Given the description of an element on the screen output the (x, y) to click on. 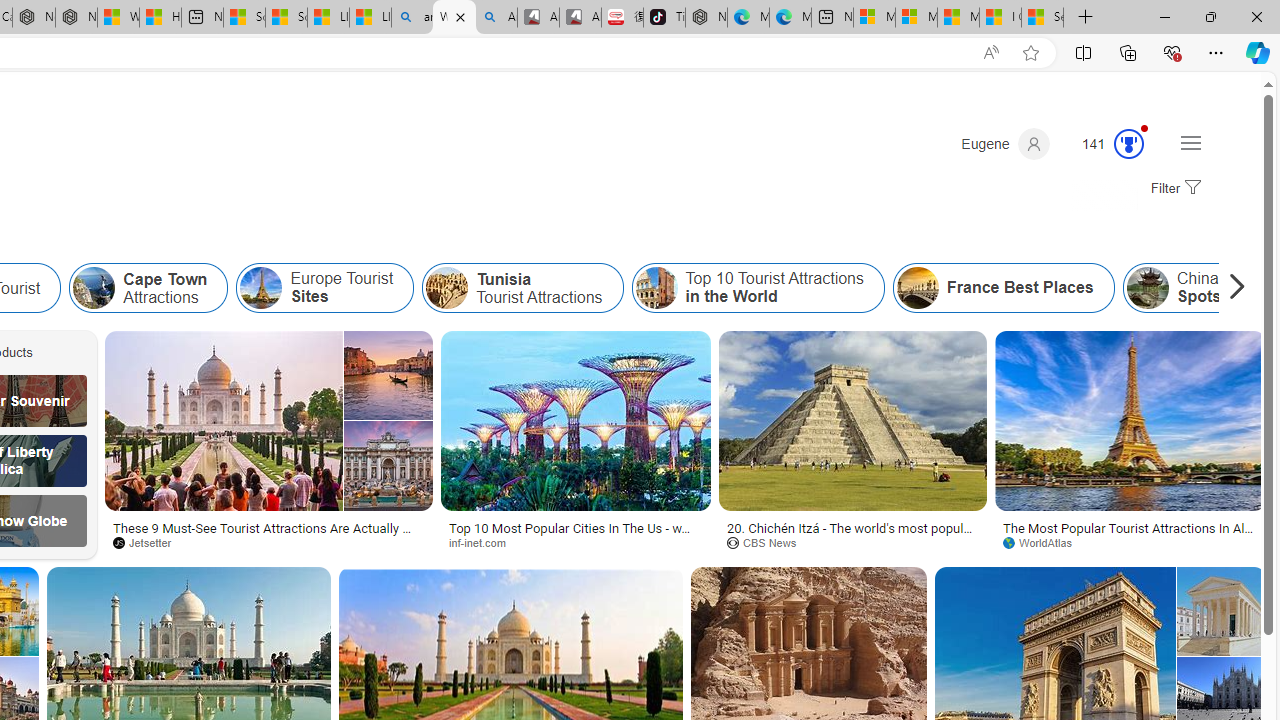
CBS News (853, 542)
inf-inet.com (484, 541)
China Tourist Spots (1147, 287)
Cape Town Attractions (94, 287)
Tunisia Tourist Attractions (447, 287)
Filter (1173, 189)
Class: medal-svg-animation (1129, 143)
